Given the description of an element on the screen output the (x, y) to click on. 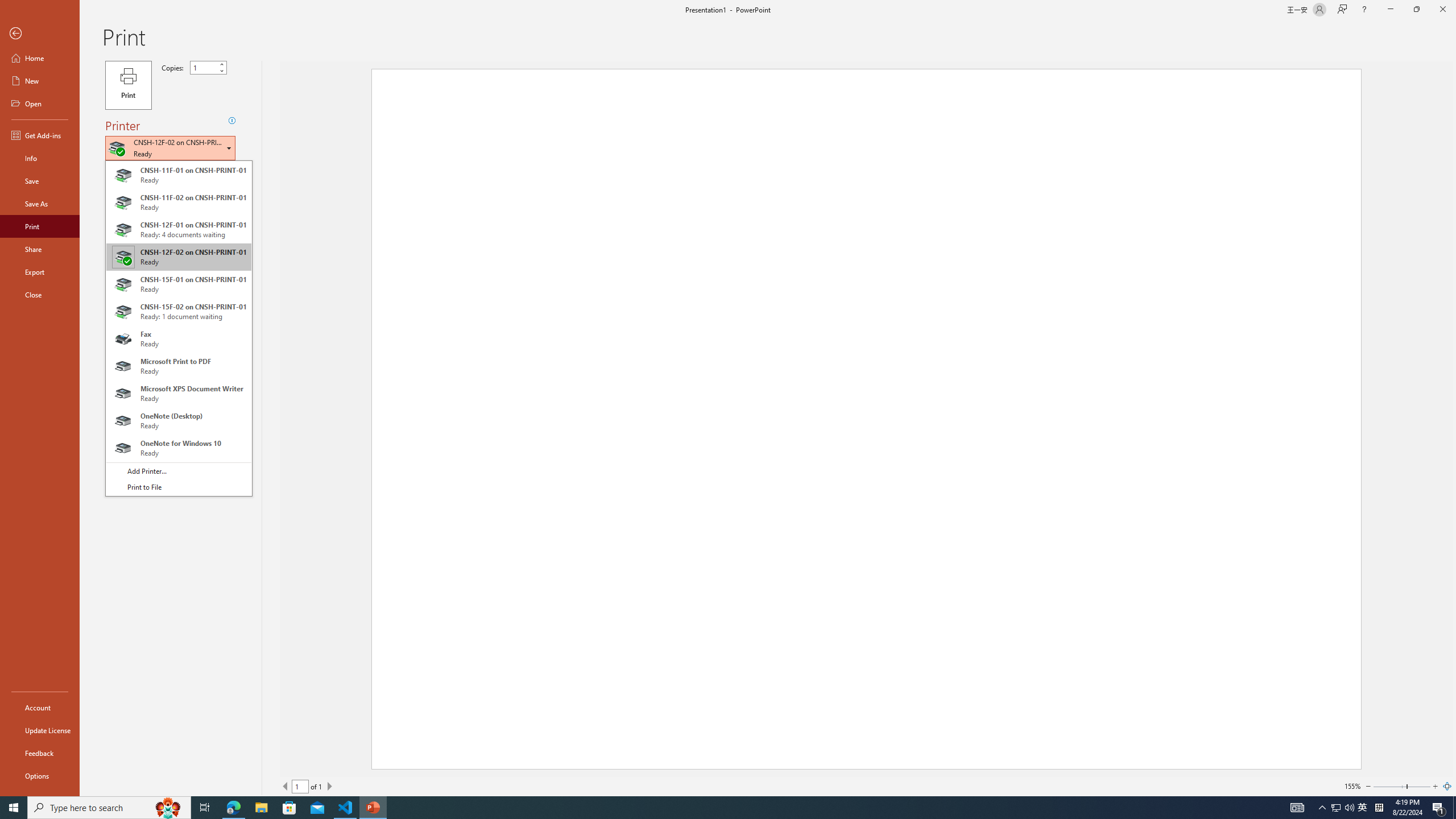
Copies (208, 67)
Info (40, 157)
